Given the description of an element on the screen output the (x, y) to click on. 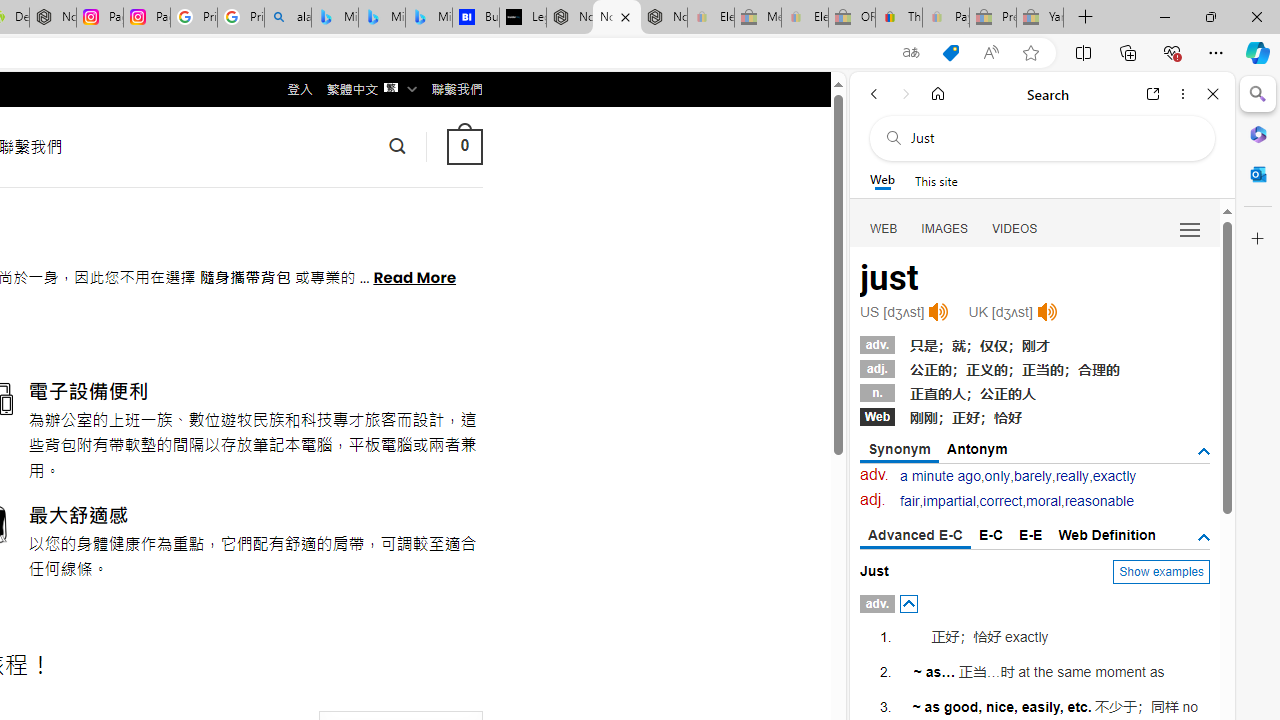
impartial (948, 501)
a minute ago (939, 475)
Antonym (977, 448)
AutomationID: tgdef (1203, 538)
Show translate options (910, 53)
alabama high school quarterback dies - Search (288, 17)
